Given the description of an element on the screen output the (x, y) to click on. 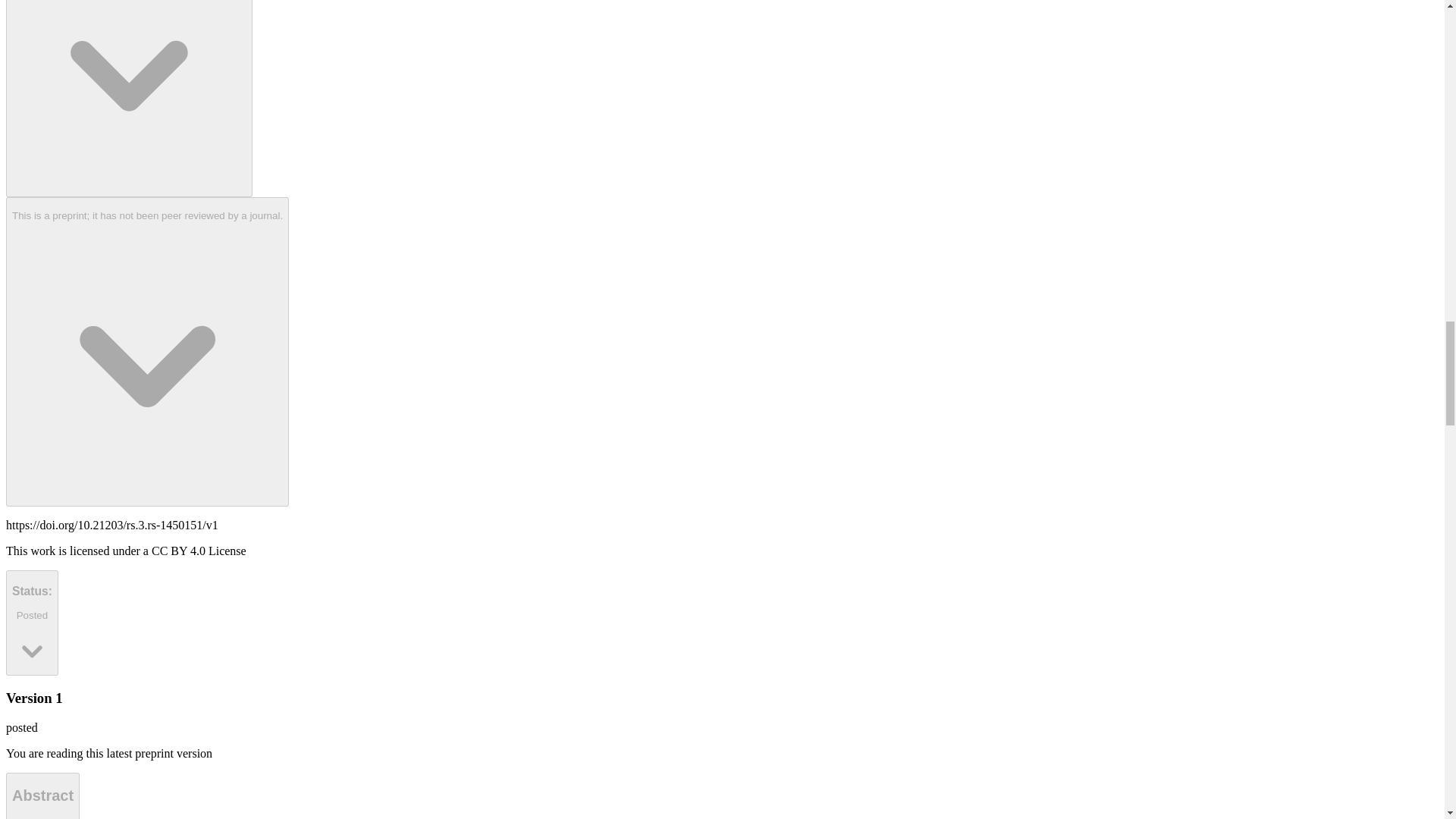
Abstract (31, 622)
Tesfaye Sama Satana, Masreshaw Temere Kassaye (42, 796)
